Given the description of an element on the screen output the (x, y) to click on. 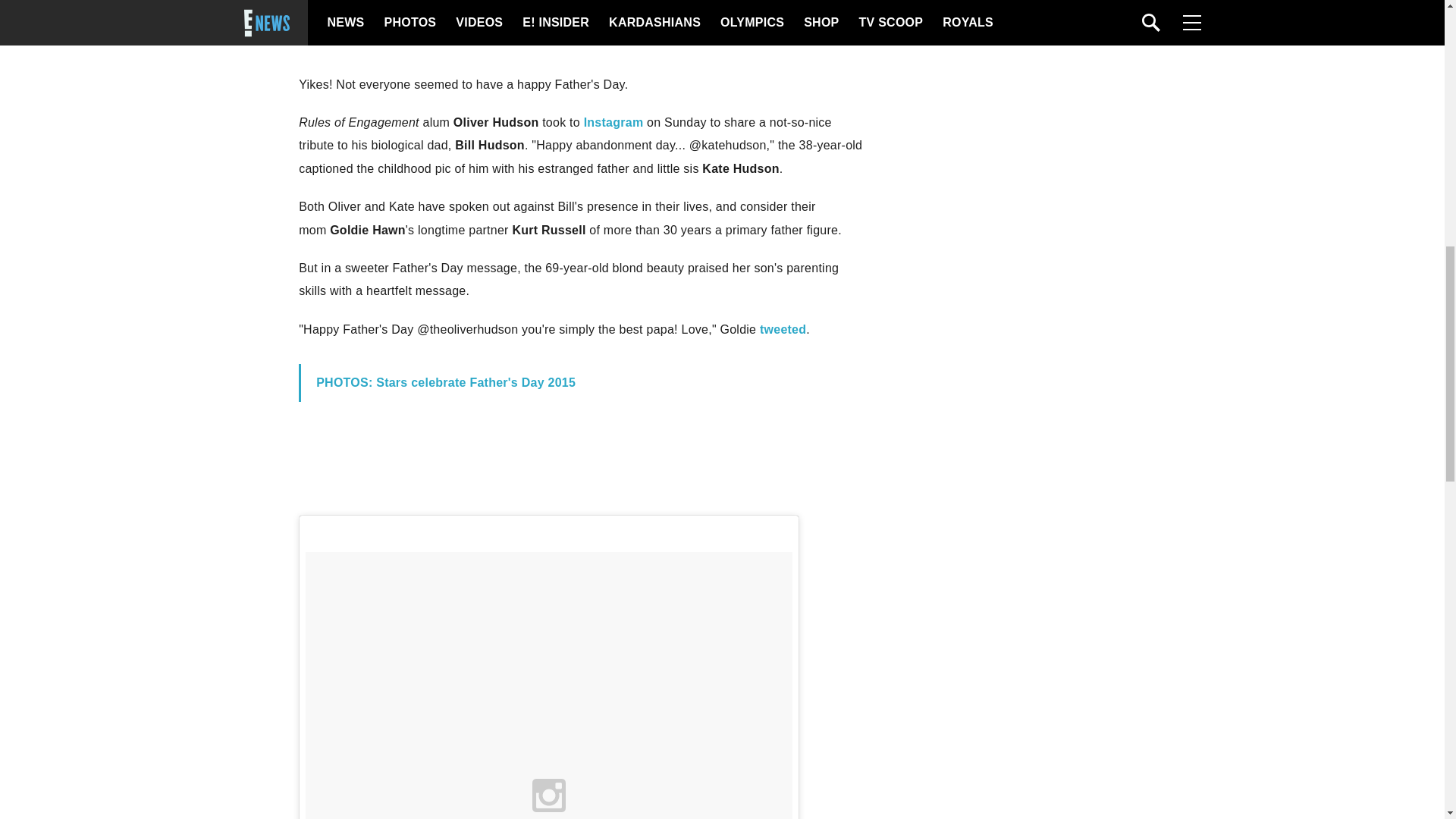
PHOTOS: Stars celebrate Father's Day 2015 (445, 382)
tweeted (783, 328)
Instagram (613, 122)
